Given the description of an element on the screen output the (x, y) to click on. 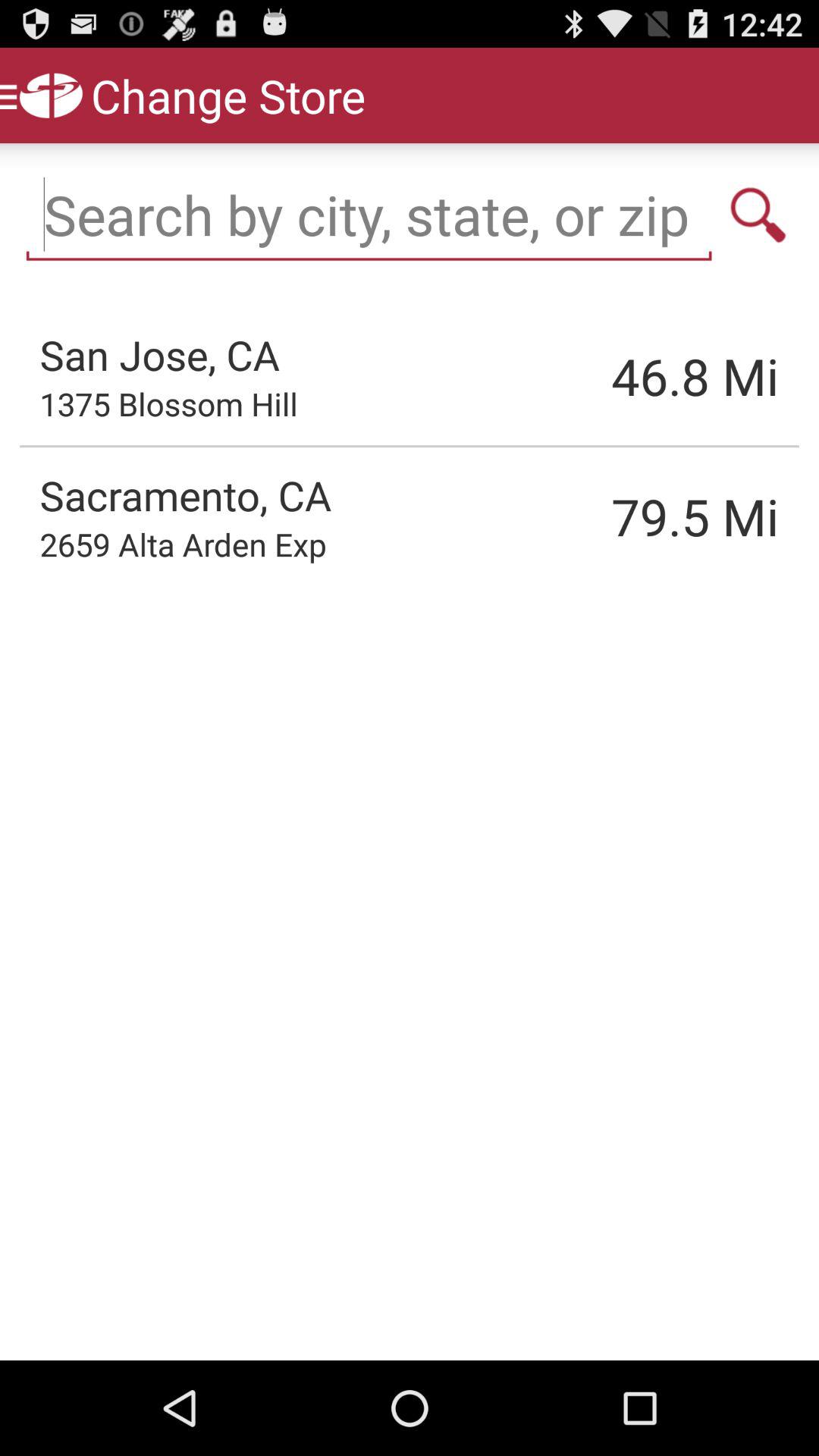
scroll until 2659 alta arden item (182, 543)
